Given the description of an element on the screen output the (x, y) to click on. 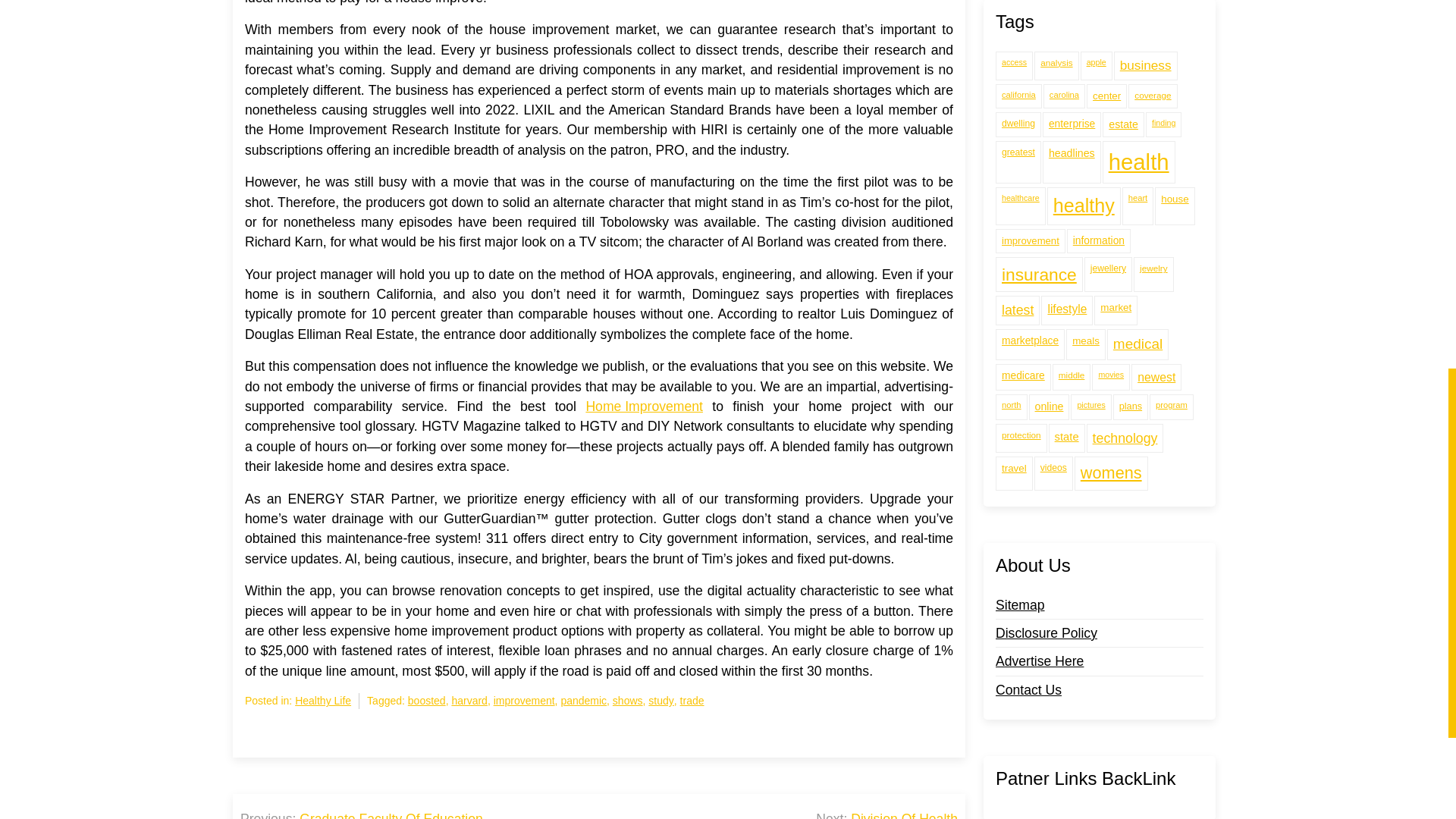
trade (691, 700)
study (659, 700)
pandemic (583, 700)
Home Improvement (644, 406)
shows (627, 700)
Next: Division Of Health (886, 814)
improvement (523, 700)
harvard (468, 700)
boosted (426, 700)
Healthy Life (322, 700)
